Given the description of an element on the screen output the (x, y) to click on. 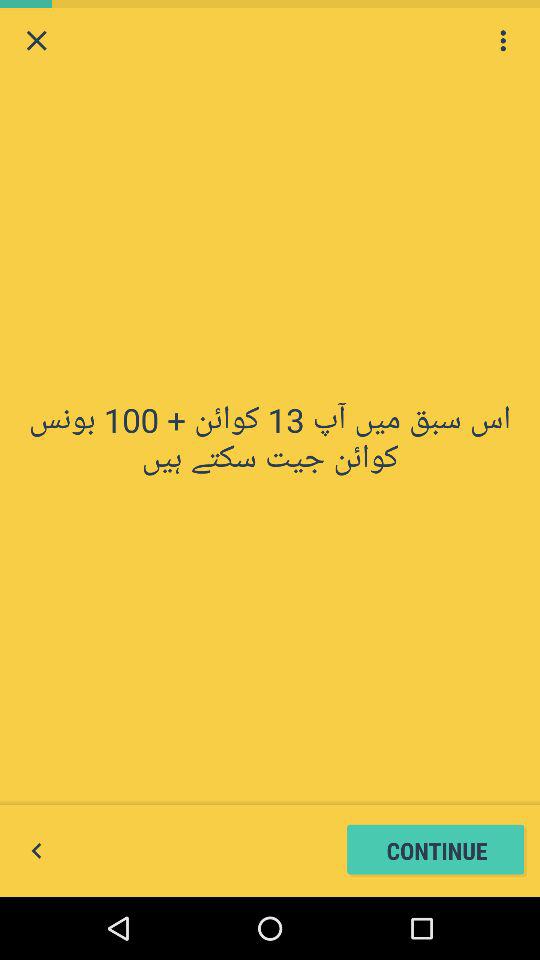
jump until continue button (436, 850)
